Given the description of an element on the screen output the (x, y) to click on. 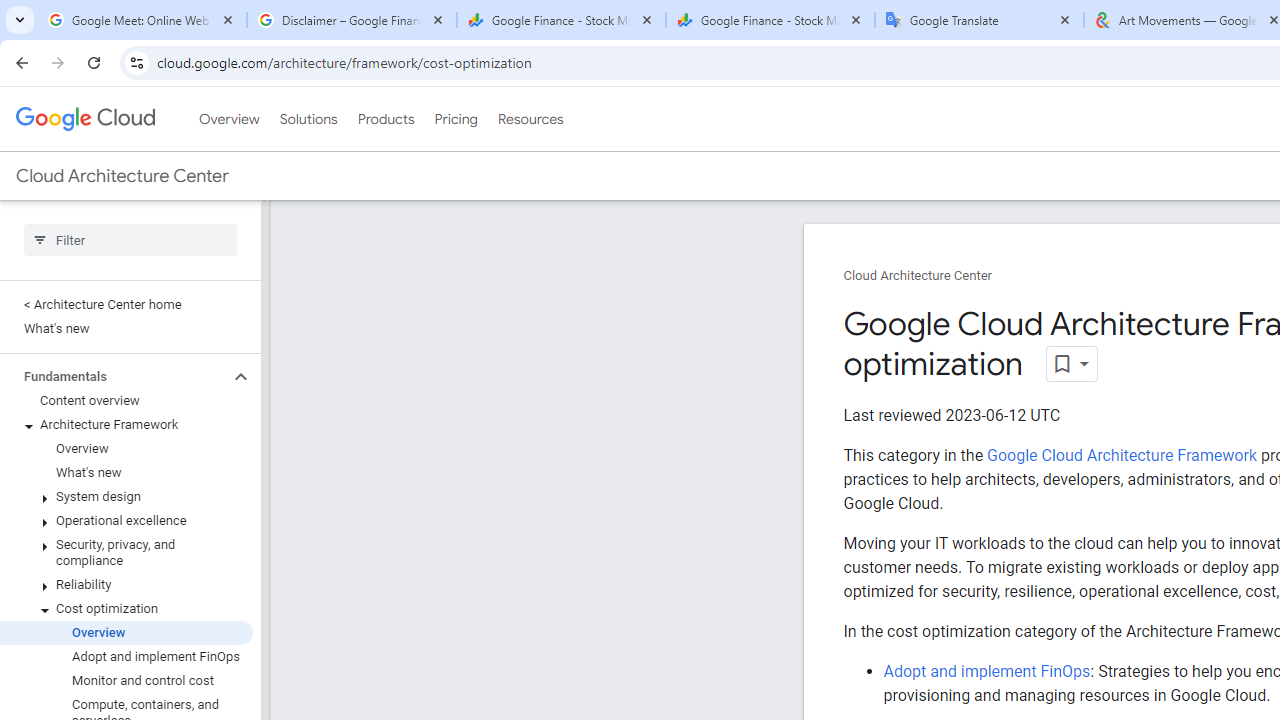
Cost optimization (126, 608)
Adopt and implement FinOps (986, 671)
